Given the description of an element on the screen output the (x, y) to click on. 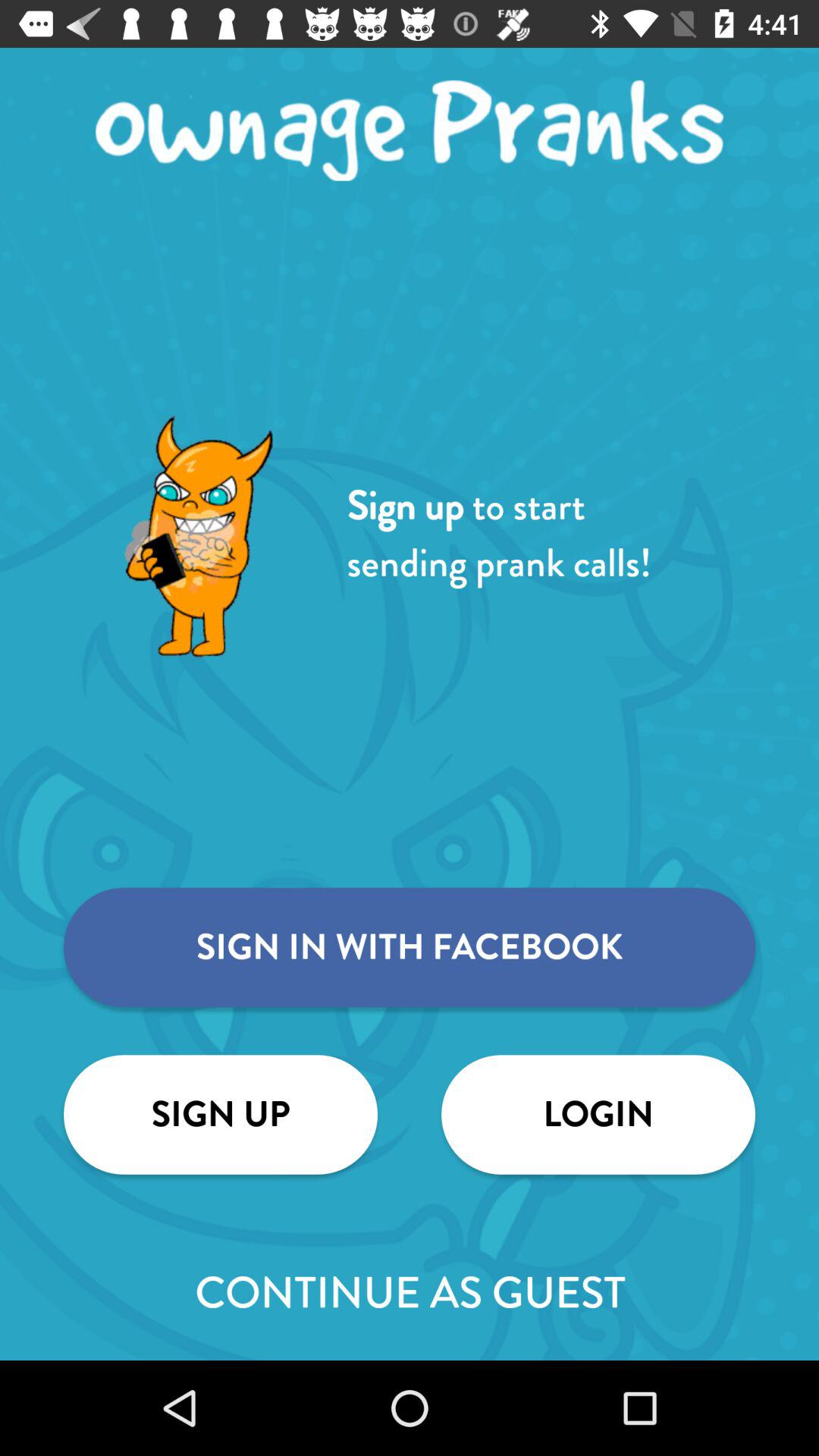
open sign in with (409, 947)
